Given the description of an element on the screen output the (x, y) to click on. 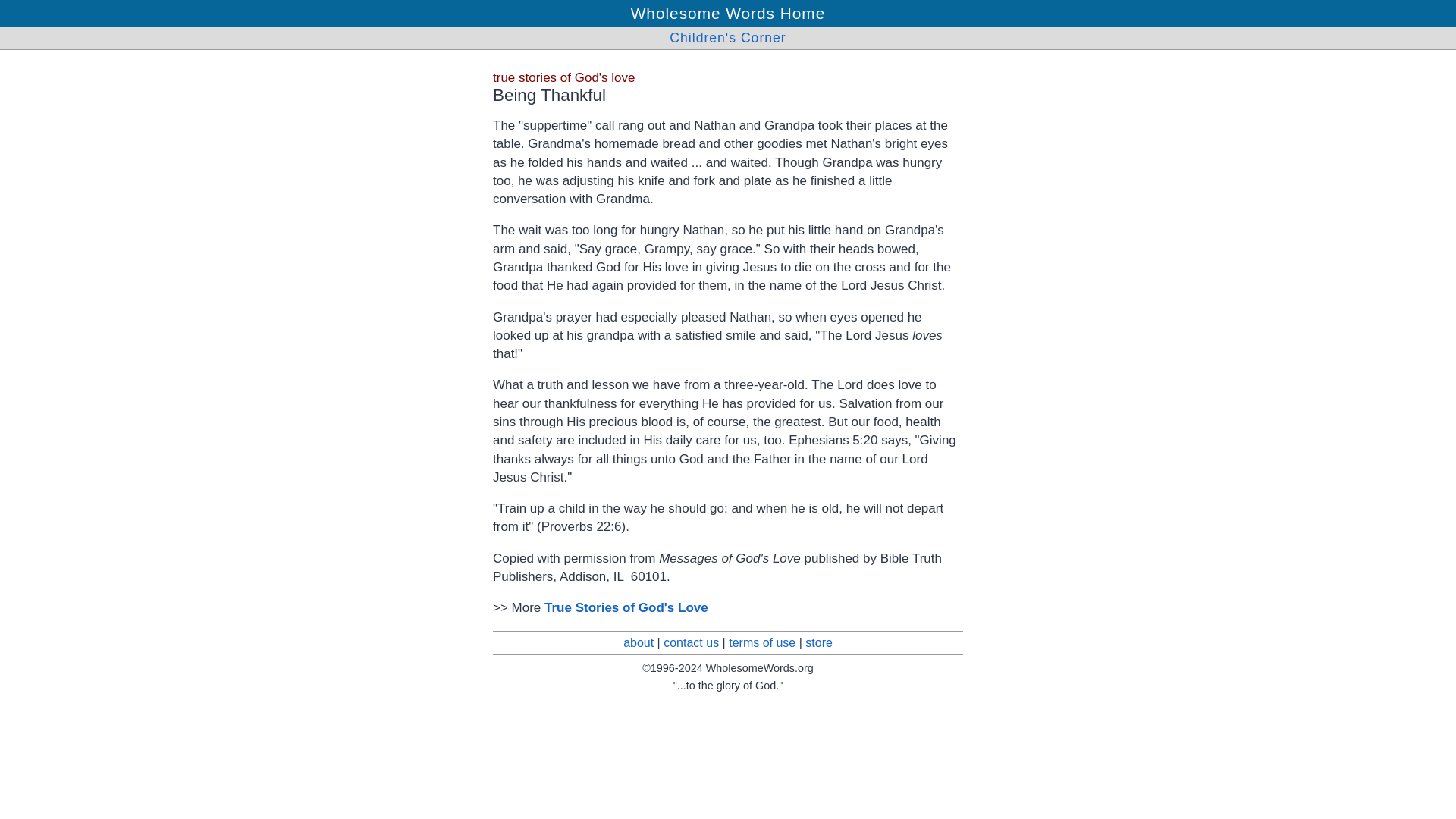
contact us (691, 641)
store (818, 641)
about (638, 641)
terms of use (761, 641)
True Stories of God's Love (625, 607)
